Given the description of an element on the screen output the (x, y) to click on. 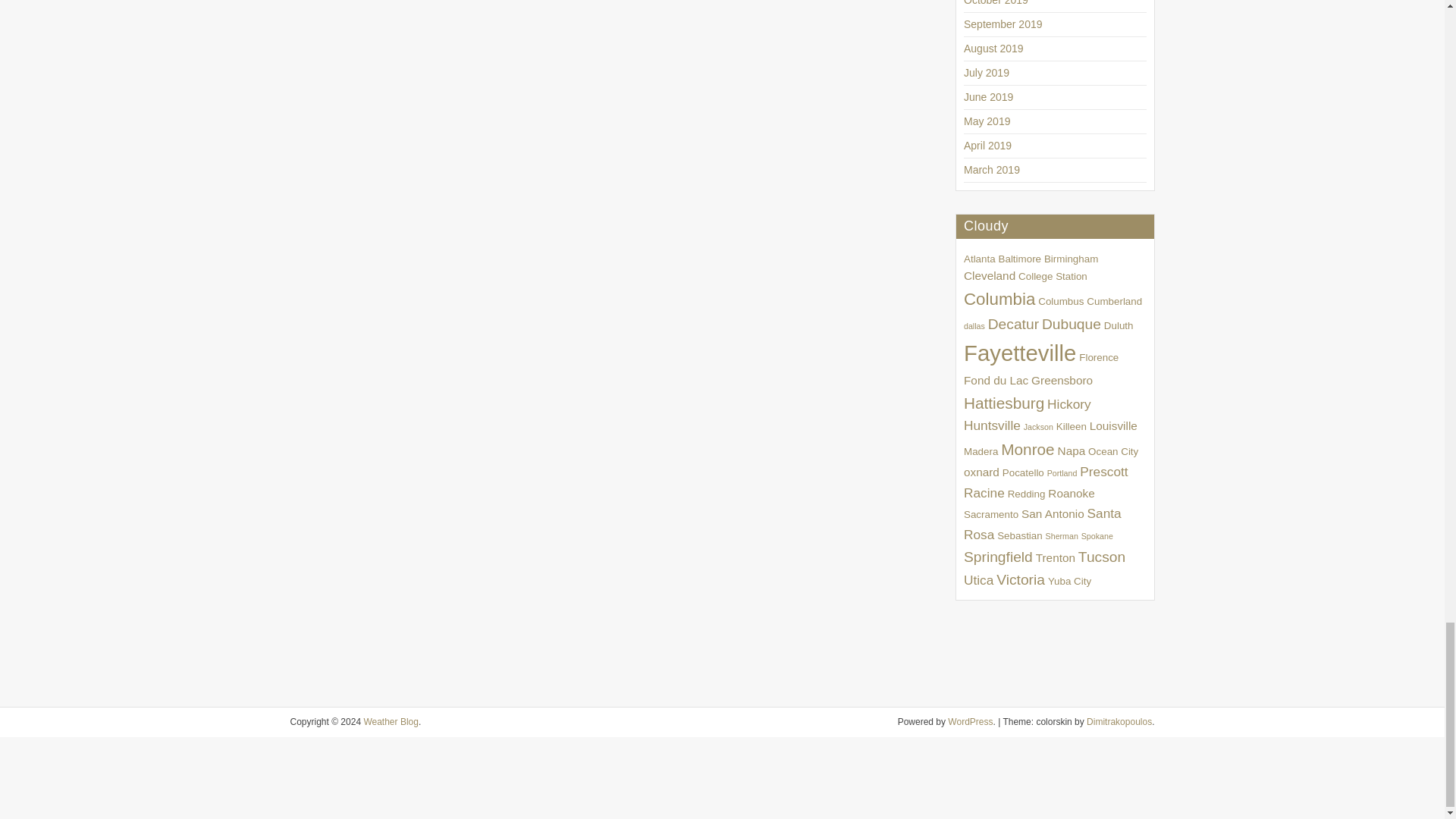
Weather Blog (390, 721)
WordPress (969, 721)
colorskin (1118, 721)
